Given the description of an element on the screen output the (x, y) to click on. 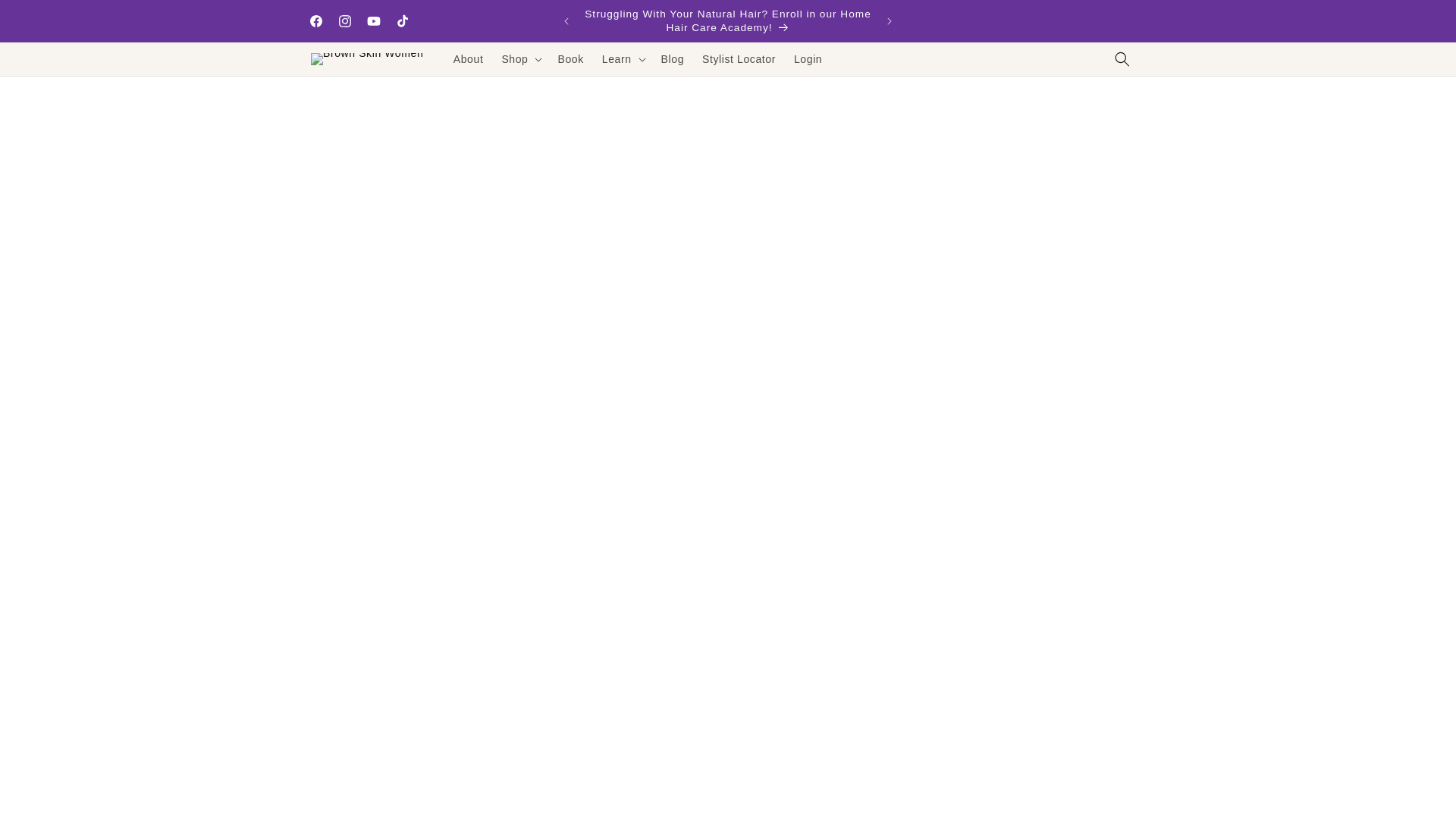
Facebook (315, 21)
Instagram (344, 21)
Skip to content (45, 17)
Get our FREE Hair Product Guide (1024, 20)
About (468, 59)
Stylist Locator (738, 59)
Blog (672, 59)
YouTube (373, 21)
Book (570, 59)
